Given the description of an element on the screen output the (x, y) to click on. 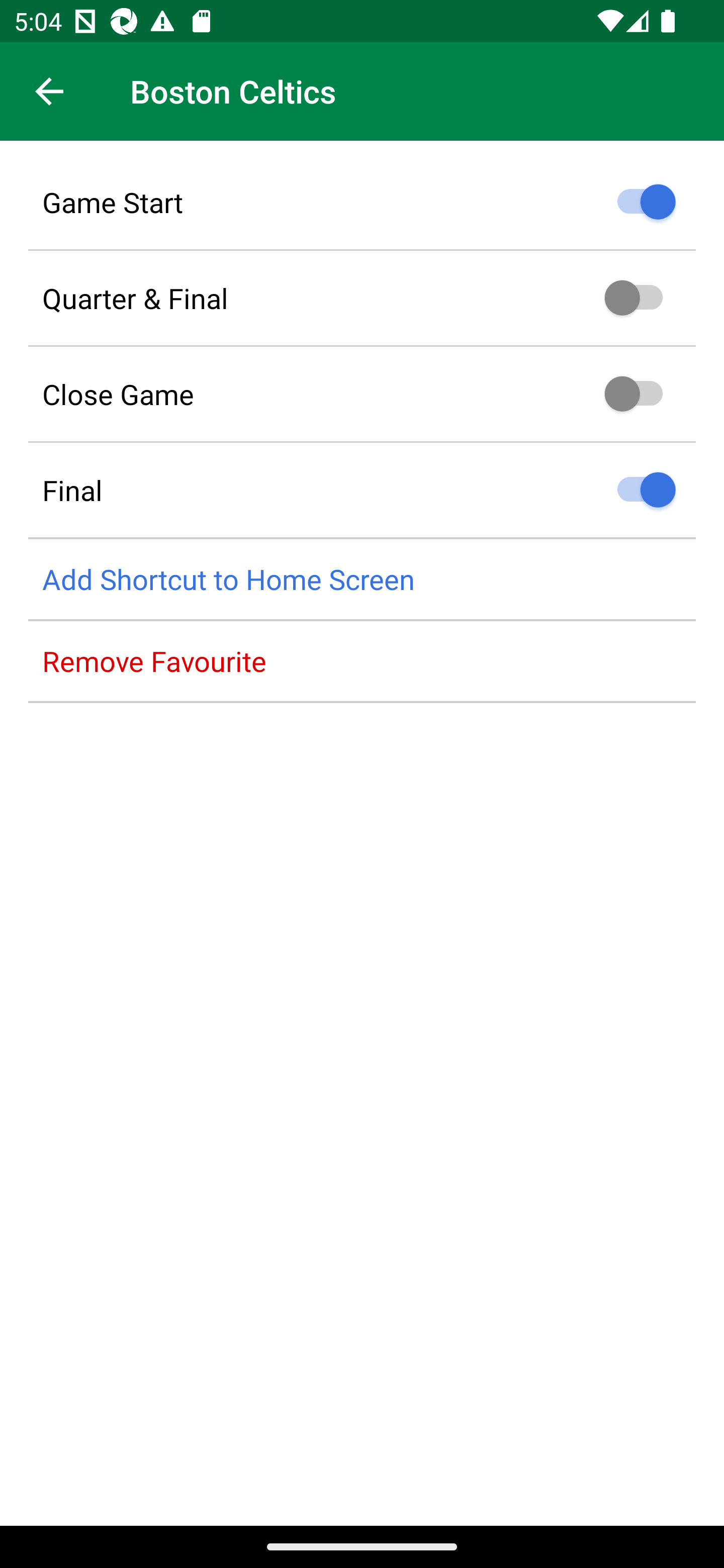
Navigate up (49, 91)
Add Shortcut to Home Screen (362, 579)
Remove Favourite (362, 661)
